Given the description of an element on the screen output the (x, y) to click on. 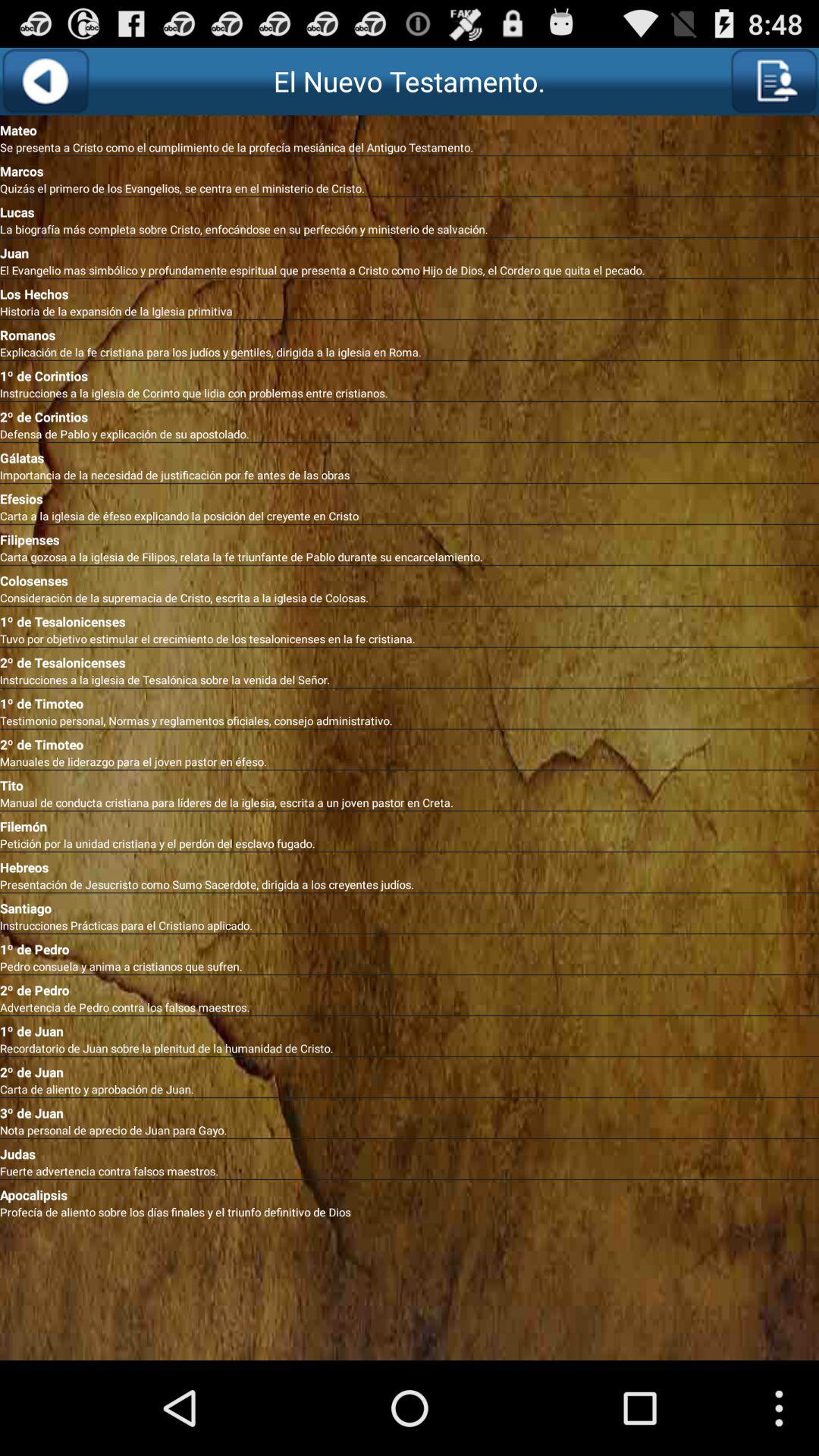
swipe to colosenses (409, 577)
